Given the description of an element on the screen output the (x, y) to click on. 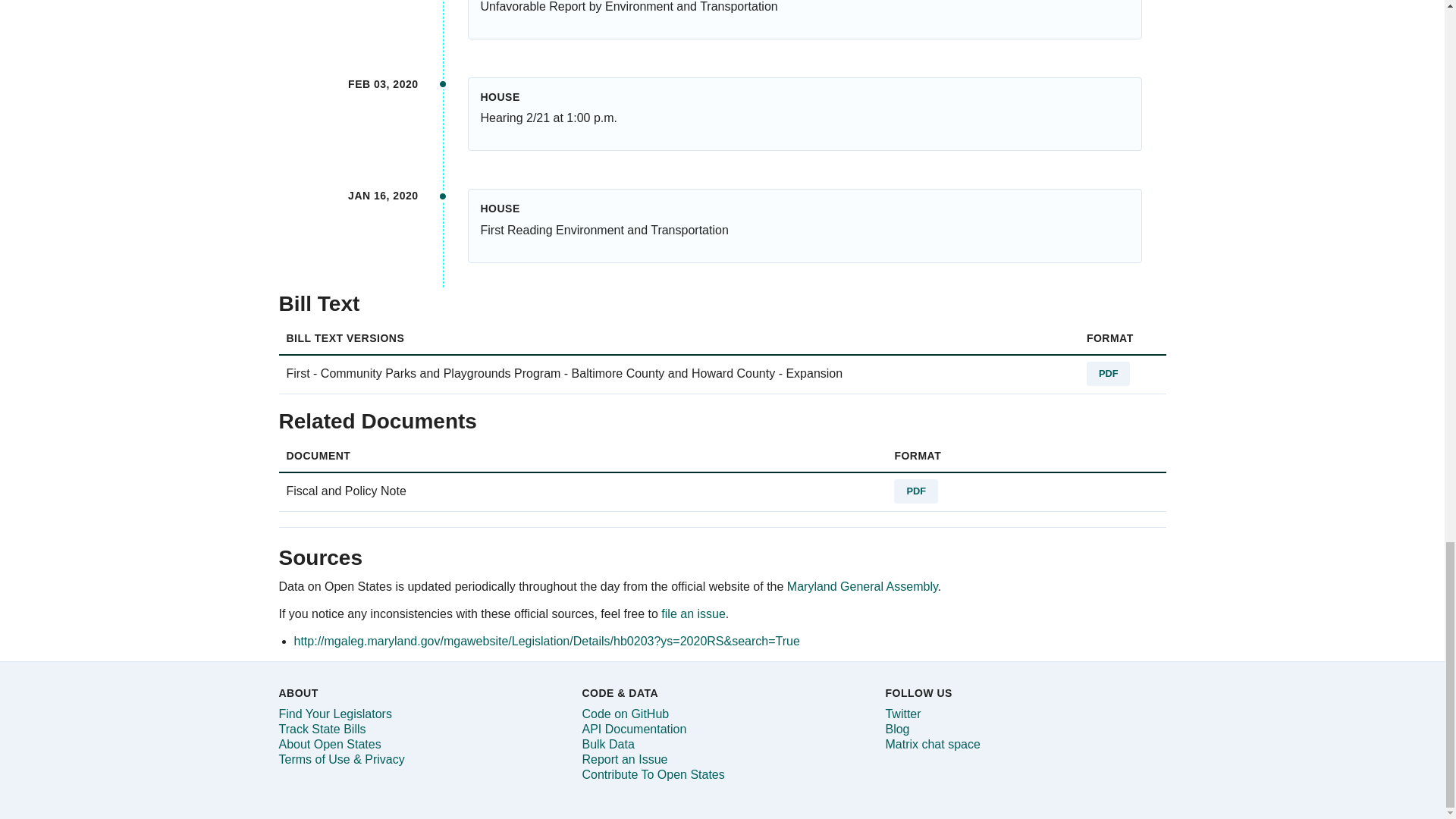
PDF (1108, 373)
Maryland General Assembly (862, 585)
Find Your Legislators (335, 713)
About Open States (330, 744)
Code on GitHub (624, 713)
API Documentation (632, 728)
Bulk Data (606, 744)
PDF (915, 491)
Track State Bills (322, 728)
file an issue (693, 613)
